Given the description of an element on the screen output the (x, y) to click on. 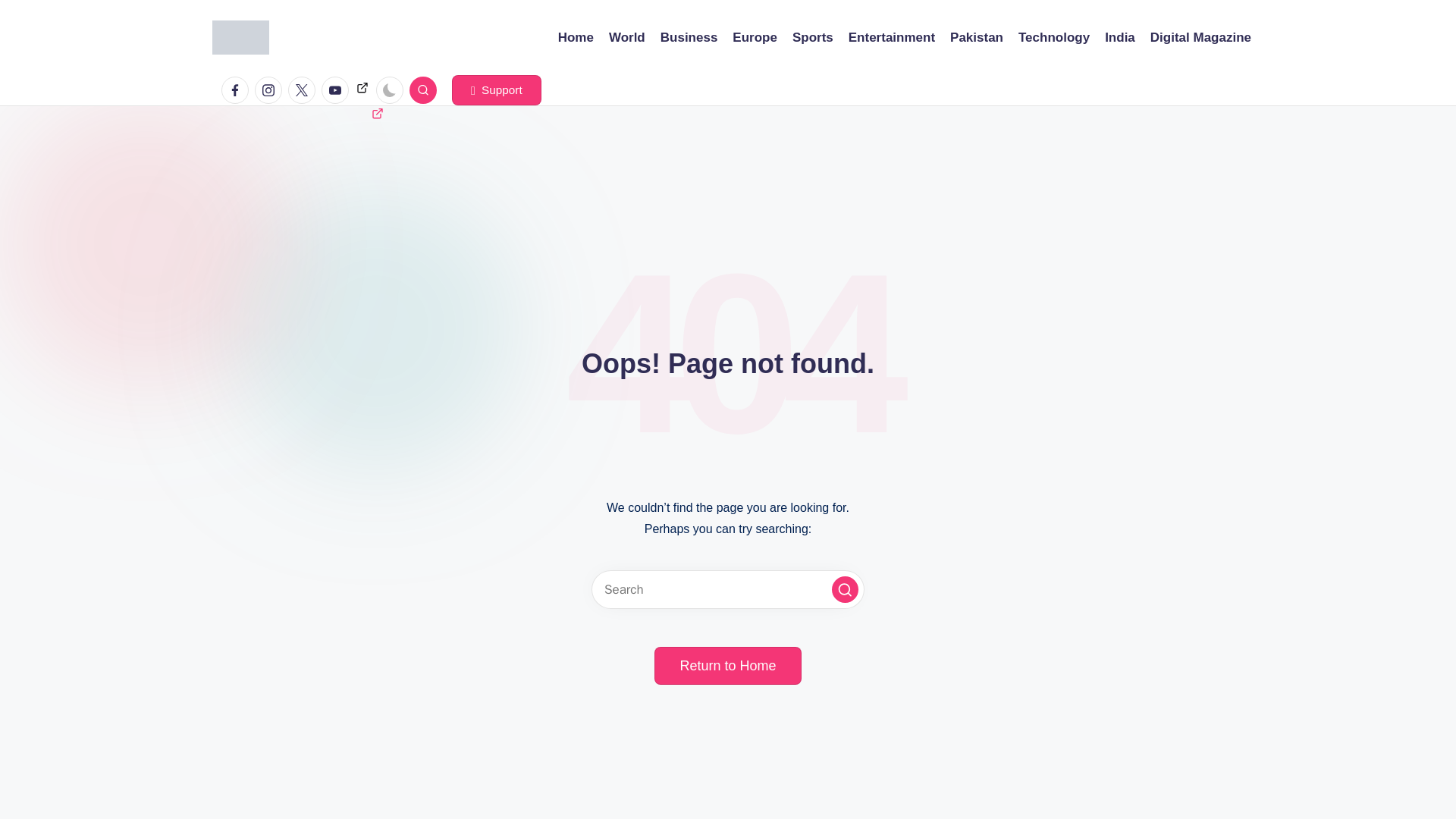
instagram (271, 90)
World (626, 37)
youtube (338, 90)
Pakistan (976, 37)
Support (496, 90)
facebook (237, 90)
Entertainment (891, 37)
twitter (304, 90)
Technology (1053, 37)
Facebook (234, 90)
